Given the description of an element on the screen output the (x, y) to click on. 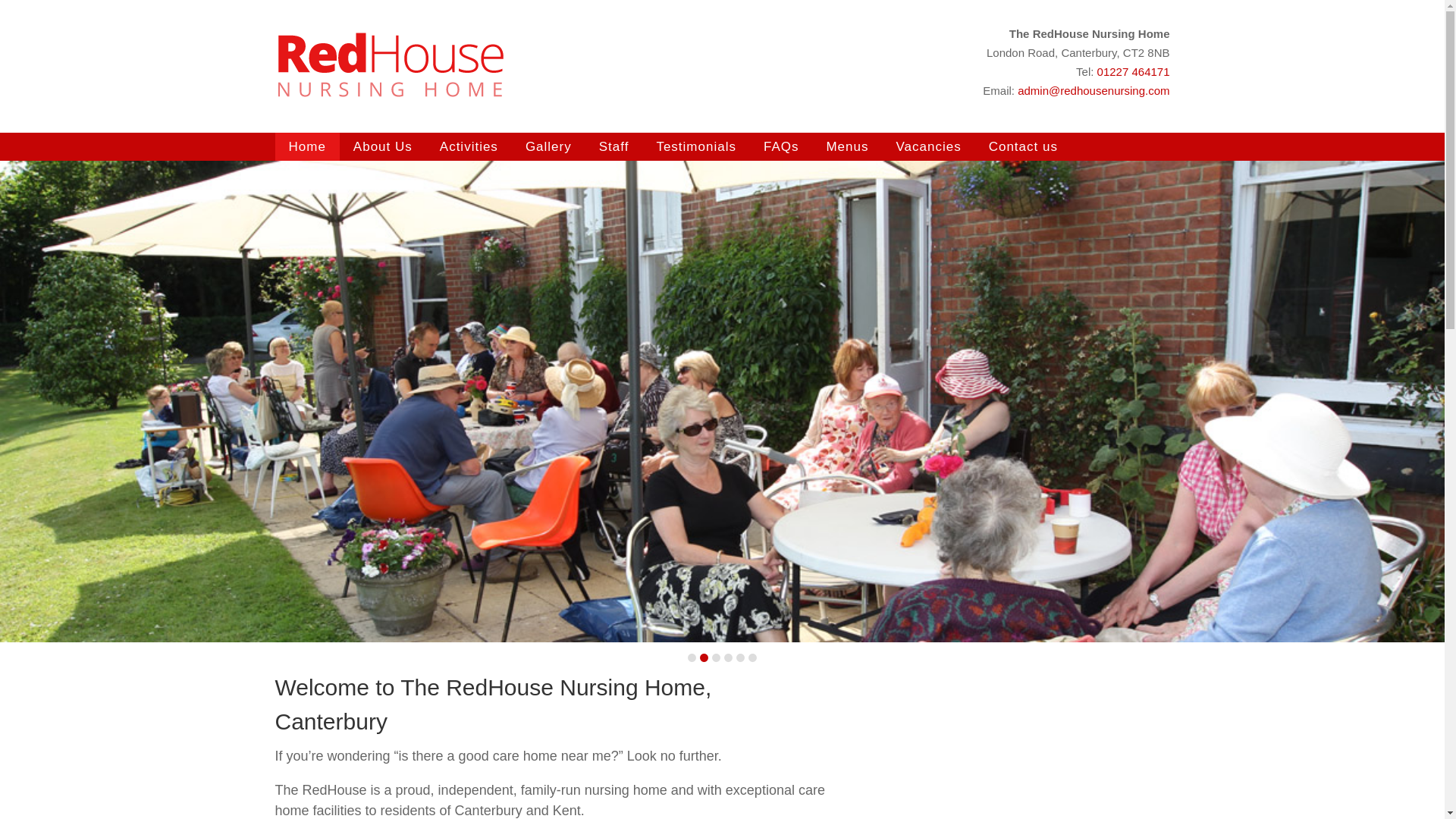
Home (307, 146)
Menus (847, 146)
Vacancies (928, 146)
Activities (469, 146)
Gallery (548, 146)
FAQs (780, 146)
Staff (614, 146)
Contact us (1023, 146)
About Us (382, 146)
Testimonials (695, 146)
01227 464171 (1133, 71)
